Given the description of an element on the screen output the (x, y) to click on. 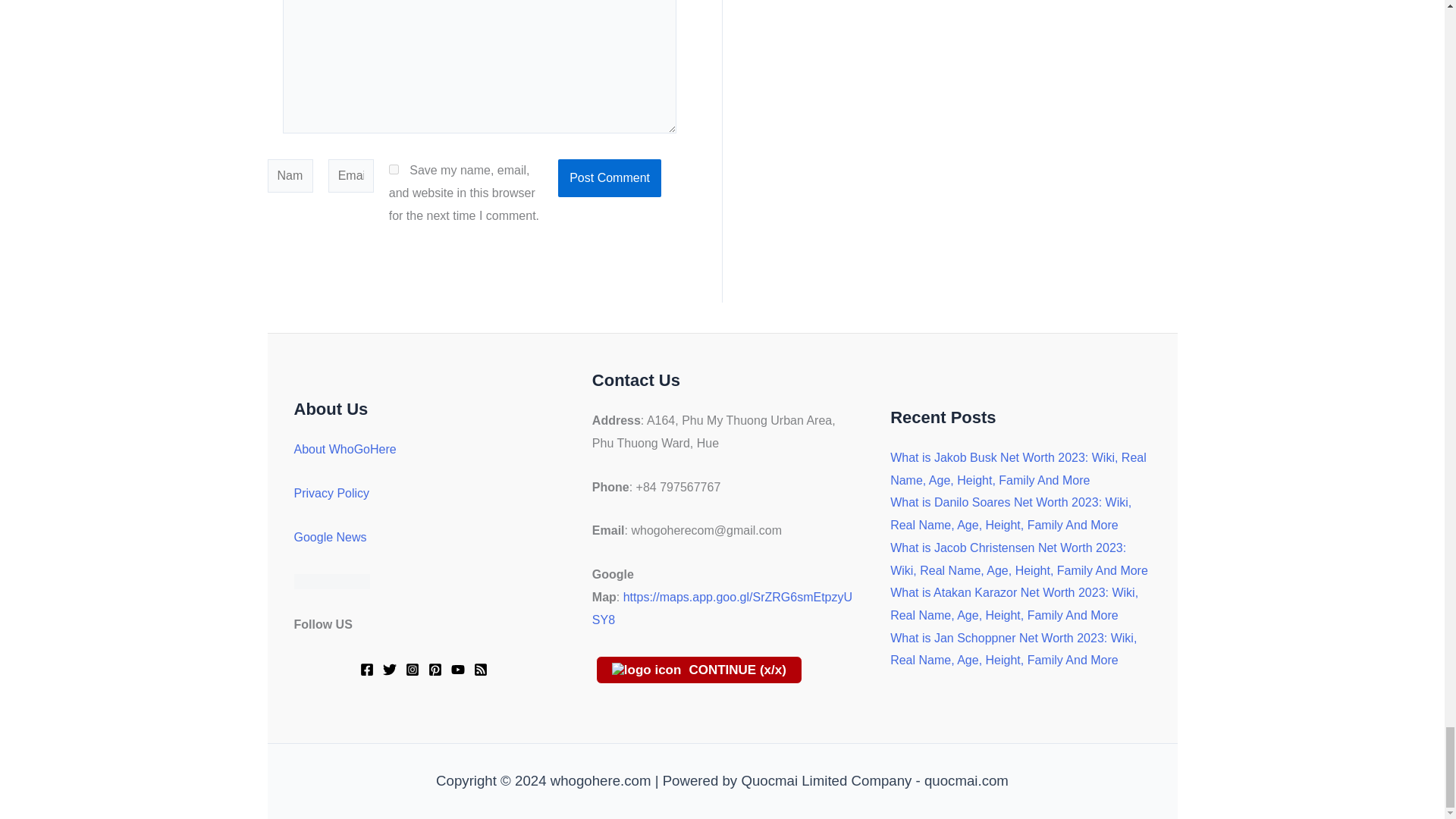
Google Map (721, 608)
DMCA.com Protection Status (331, 581)
Post Comment (609, 177)
yes (393, 169)
